Given the description of an element on the screen output the (x, y) to click on. 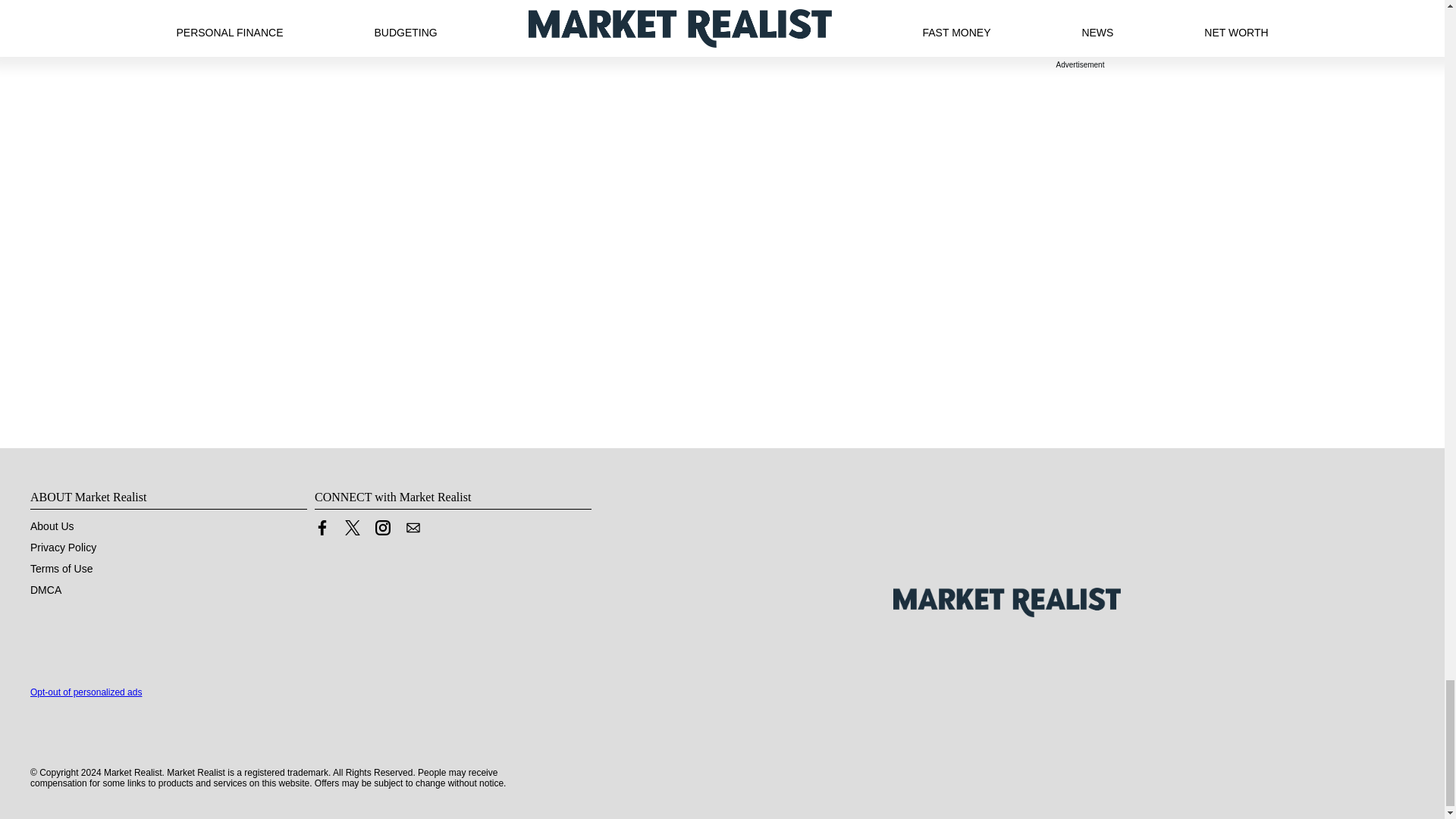
DMCA (45, 589)
Terms of Use (61, 568)
Opt-out of personalized ads (85, 692)
Link to Instagram (382, 531)
Terms of Use (61, 568)
Link to Facebook (322, 531)
Link to X (352, 531)
Privacy Policy (63, 547)
Contact us by Email (413, 527)
About Us (52, 526)
